Given the description of an element on the screen output the (x, y) to click on. 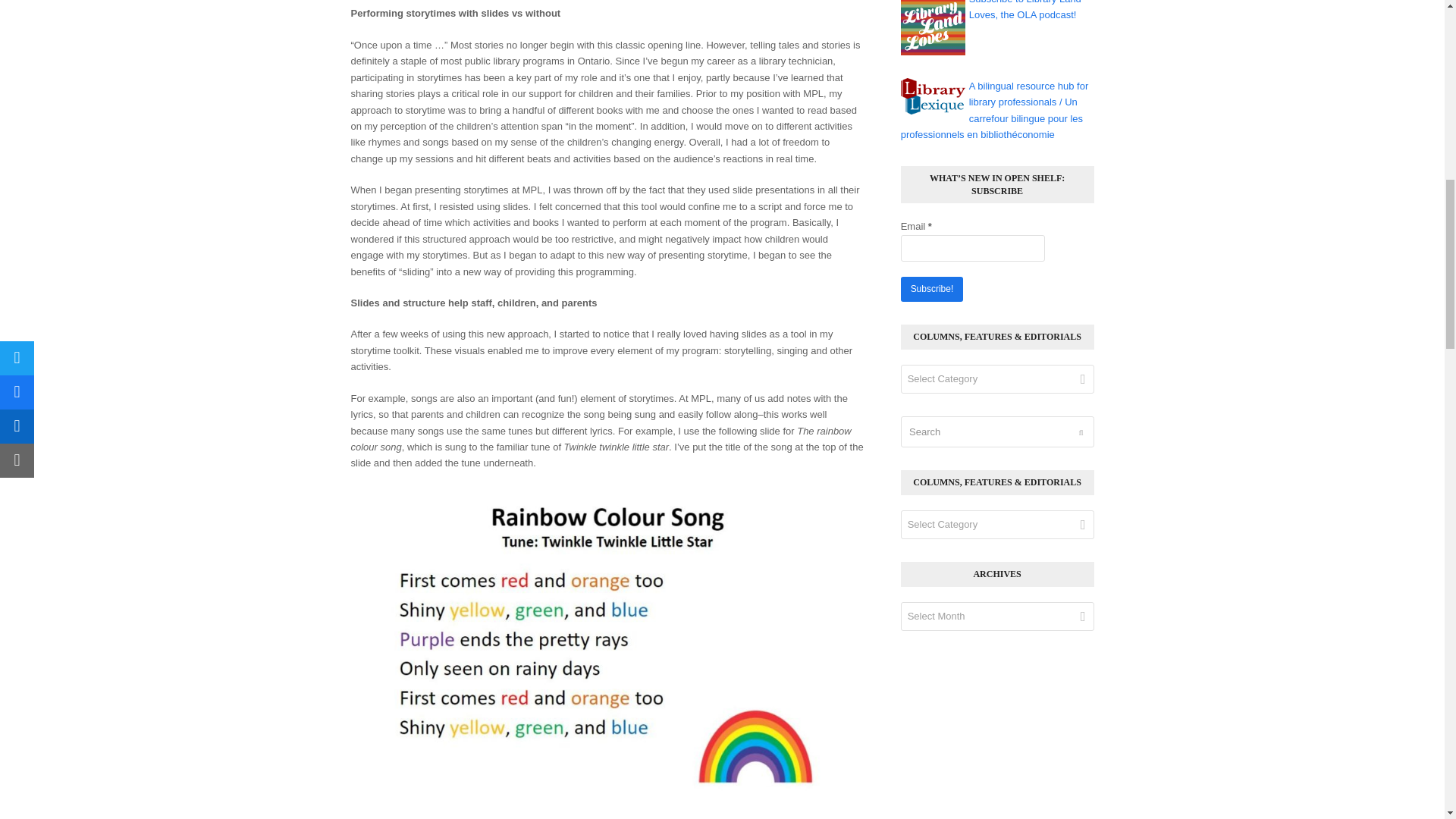
Subscribe! (931, 289)
Email (973, 248)
